Given the description of an element on the screen output the (x, y) to click on. 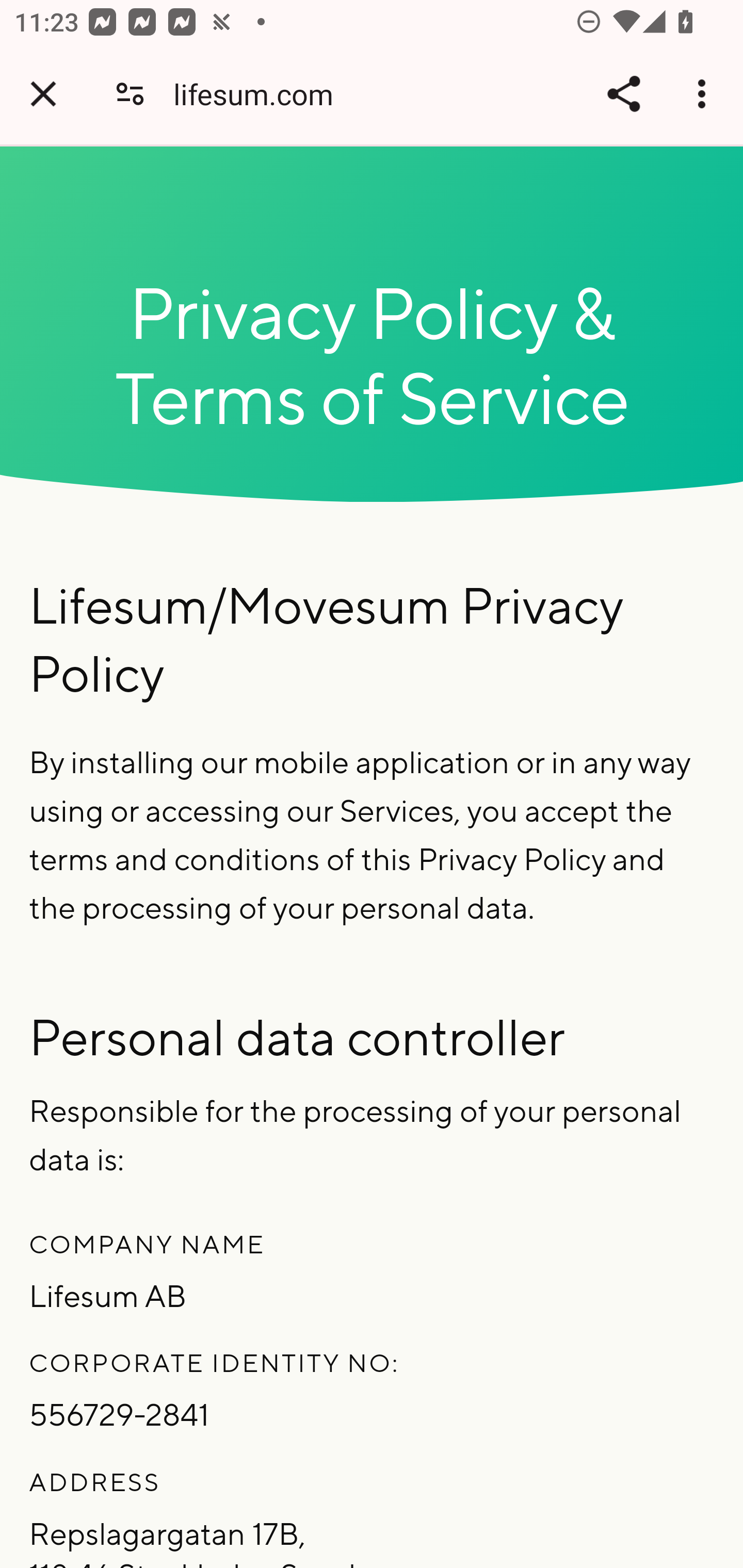
Close tab (43, 93)
Share (623, 93)
Customize and control Google Chrome (705, 93)
Connection is secure (129, 93)
lifesum.com (260, 93)
